Given the description of an element on the screen output the (x, y) to click on. 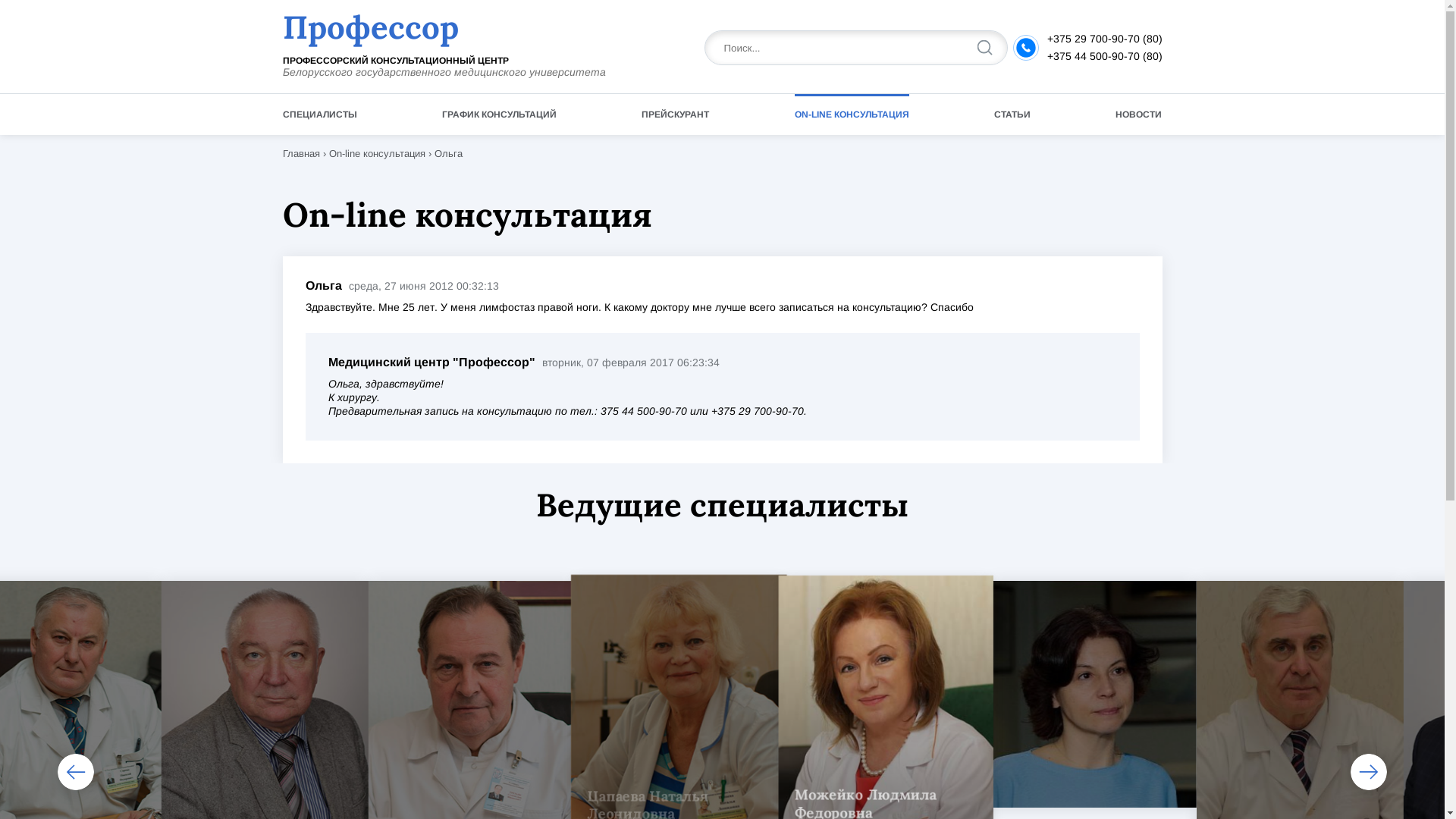
+375 44 500-90-70 (80) Element type: text (1103, 56)
+375 29 700-90-70 (80) Element type: text (1103, 38)
